Given the description of an element on the screen output the (x, y) to click on. 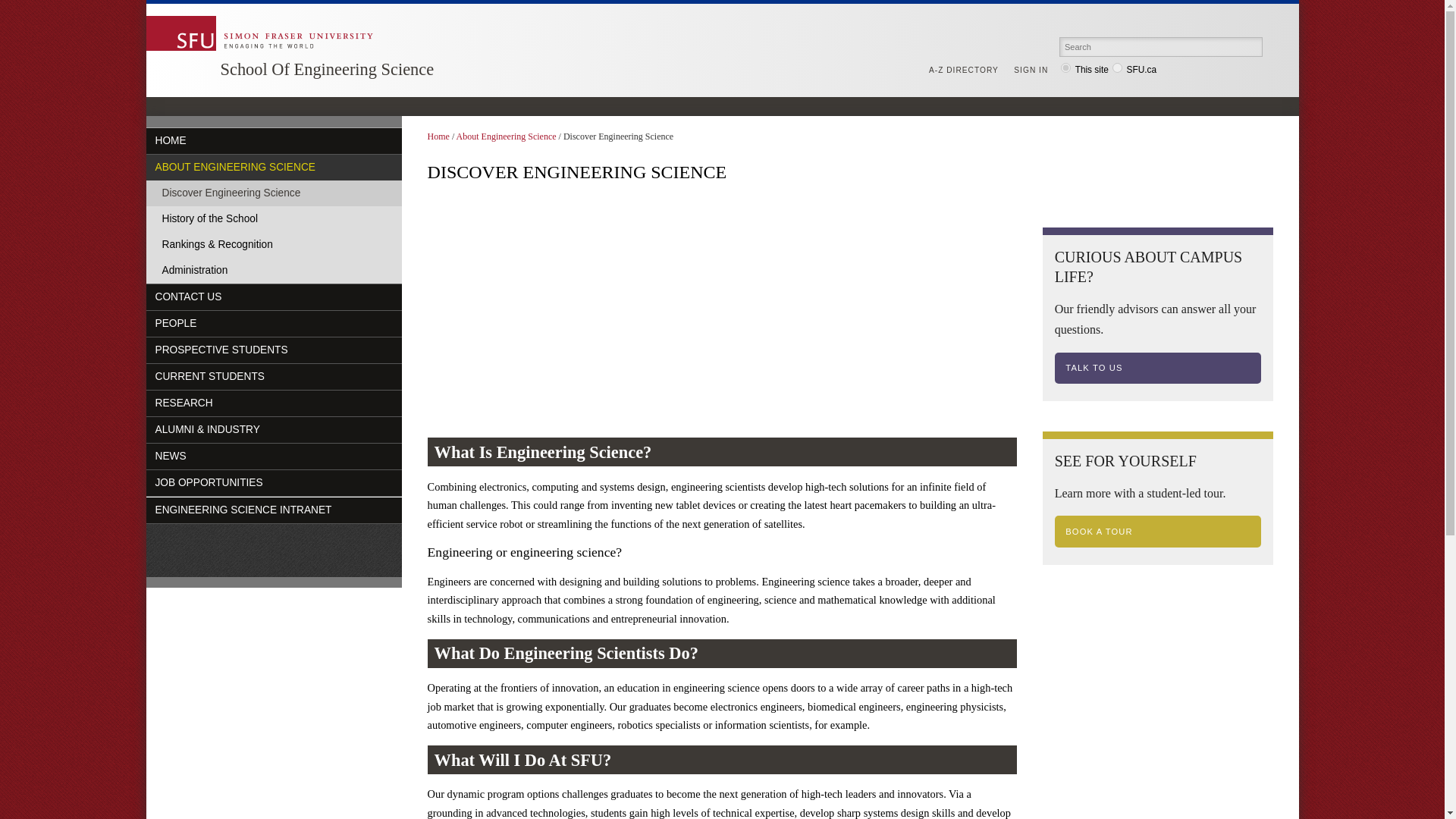
site (1065, 67)
SIGN IN (1034, 70)
sfu (1117, 67)
A-Z DIRECTORY (967, 70)
School Of Engineering Science (326, 68)
